Given the description of an element on the screen output the (x, y) to click on. 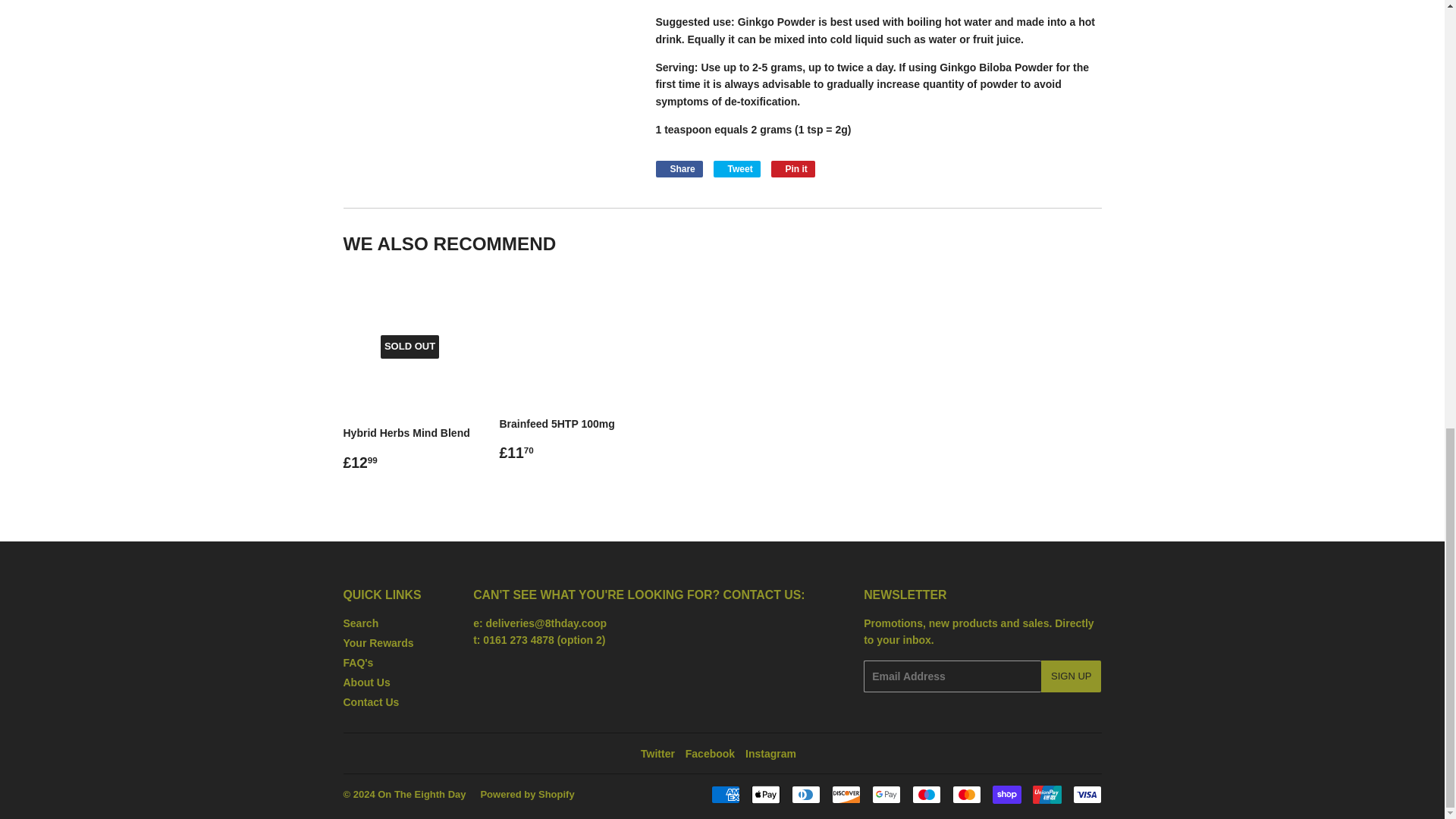
On The Eighth Day on Facebook (710, 753)
On The Eighth Day on Twitter (657, 753)
Discover (845, 794)
Tweet on Twitter (736, 168)
Maestro (925, 794)
Apple Pay (764, 794)
Pin on Pinterest (793, 168)
On The Eighth Day on Instagram (770, 753)
Shop Pay (1005, 794)
Google Pay (886, 794)
Mastercard (966, 794)
Visa (1085, 794)
American Express (725, 794)
Share on Facebook (678, 168)
Diners Club (806, 794)
